Given the description of an element on the screen output the (x, y) to click on. 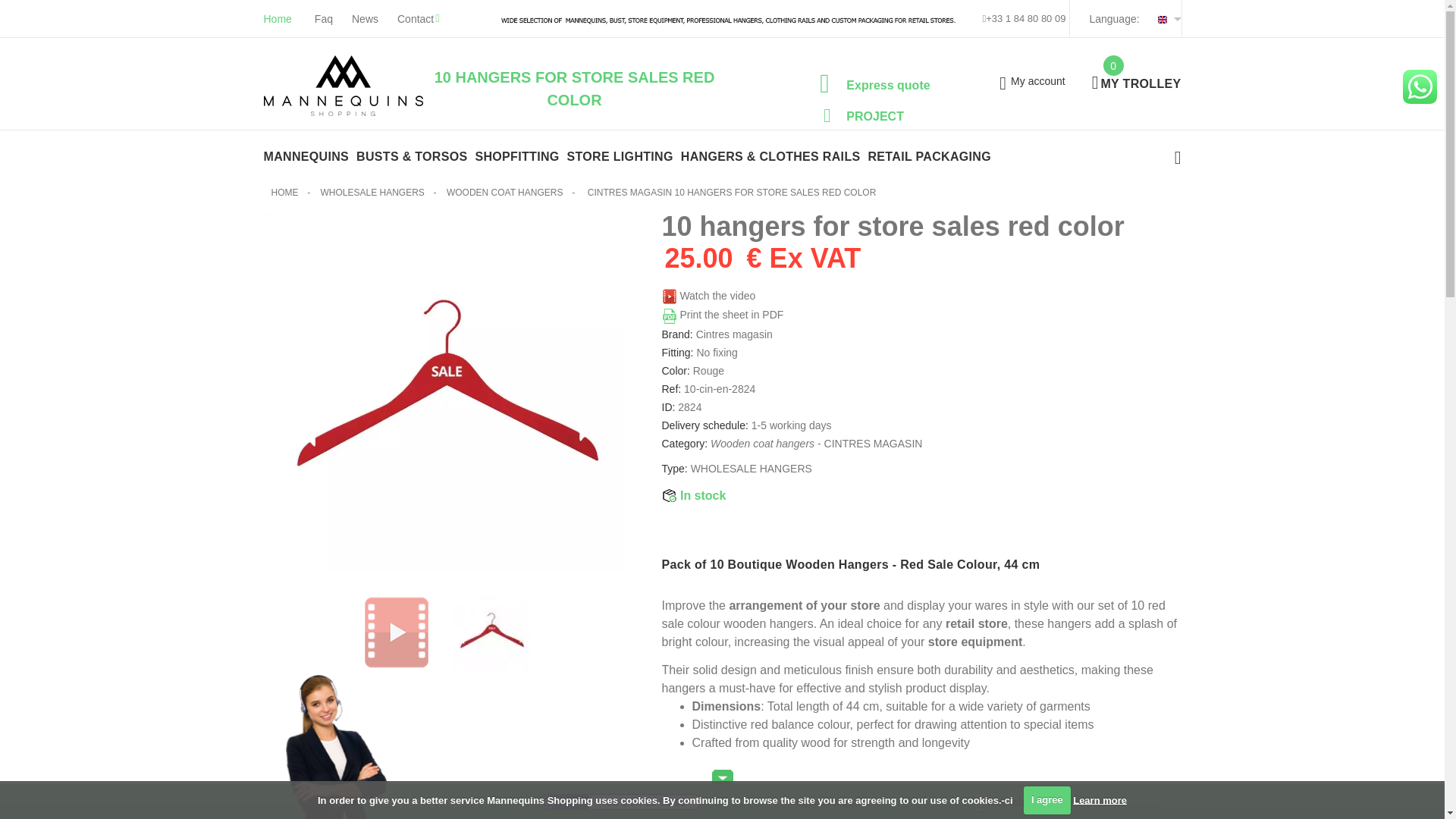
I agree (1046, 799)
Learn more (1099, 799)
1 (740, 806)
